Given the description of an element on the screen output the (x, y) to click on. 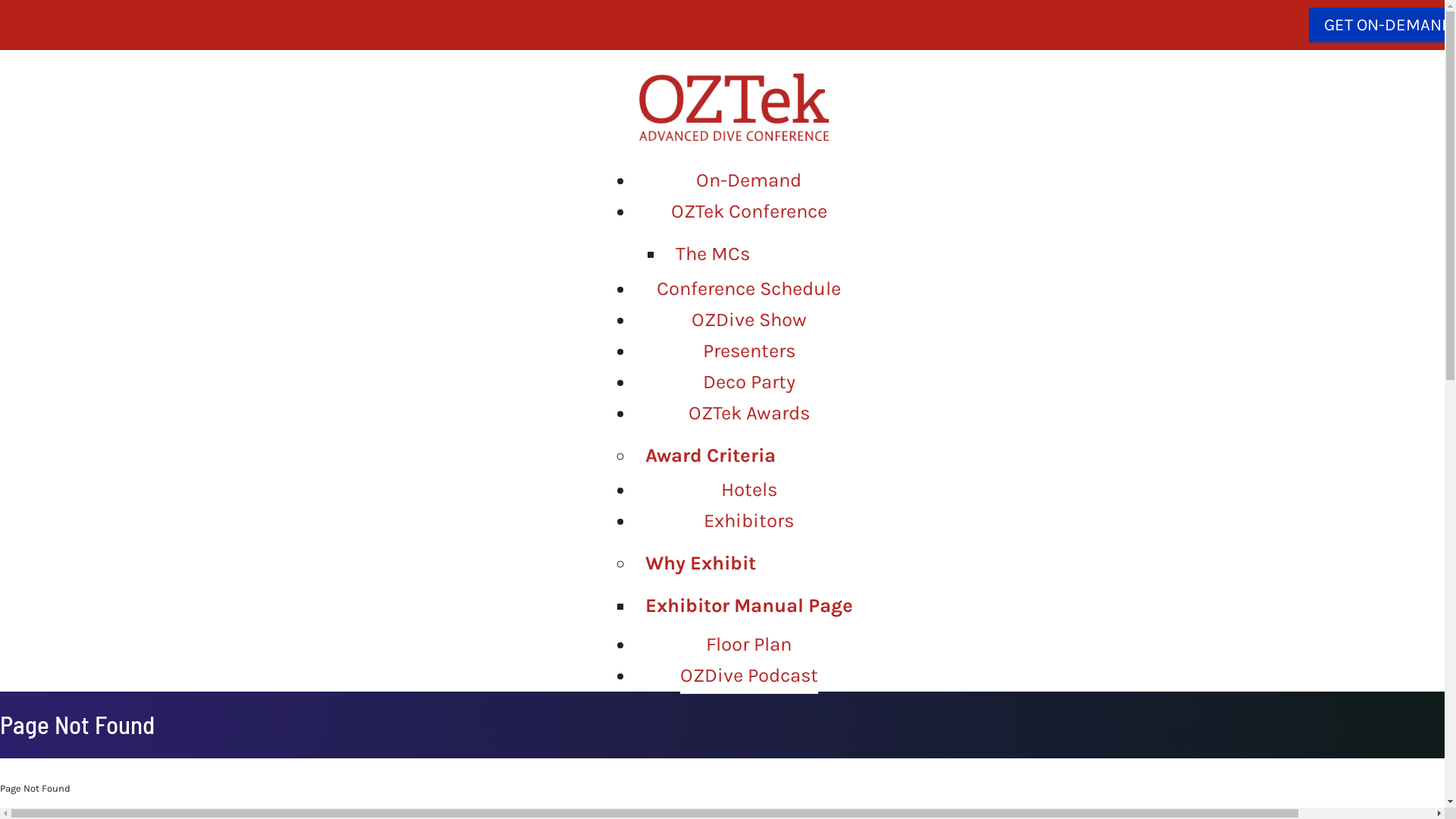
OZTek Conference Element type: text (748, 211)
Floor Plan Element type: text (748, 644)
OZDive Podcast Element type: text (748, 675)
Award Criteria Element type: text (710, 457)
Conference Schedule Element type: text (748, 289)
Exhibitors Element type: text (748, 521)
OZTek Awards Element type: text (748, 413)
Hotels Element type: text (748, 490)
OZDive Show Element type: text (748, 320)
Deco Party Element type: text (748, 382)
Why Exhibit Element type: text (700, 565)
Exhibitor Manual Page Element type: text (748, 608)
On-Demand Element type: text (748, 180)
The MCs Element type: text (712, 256)
Presenters Element type: text (748, 351)
